Given the description of an element on the screen output the (x, y) to click on. 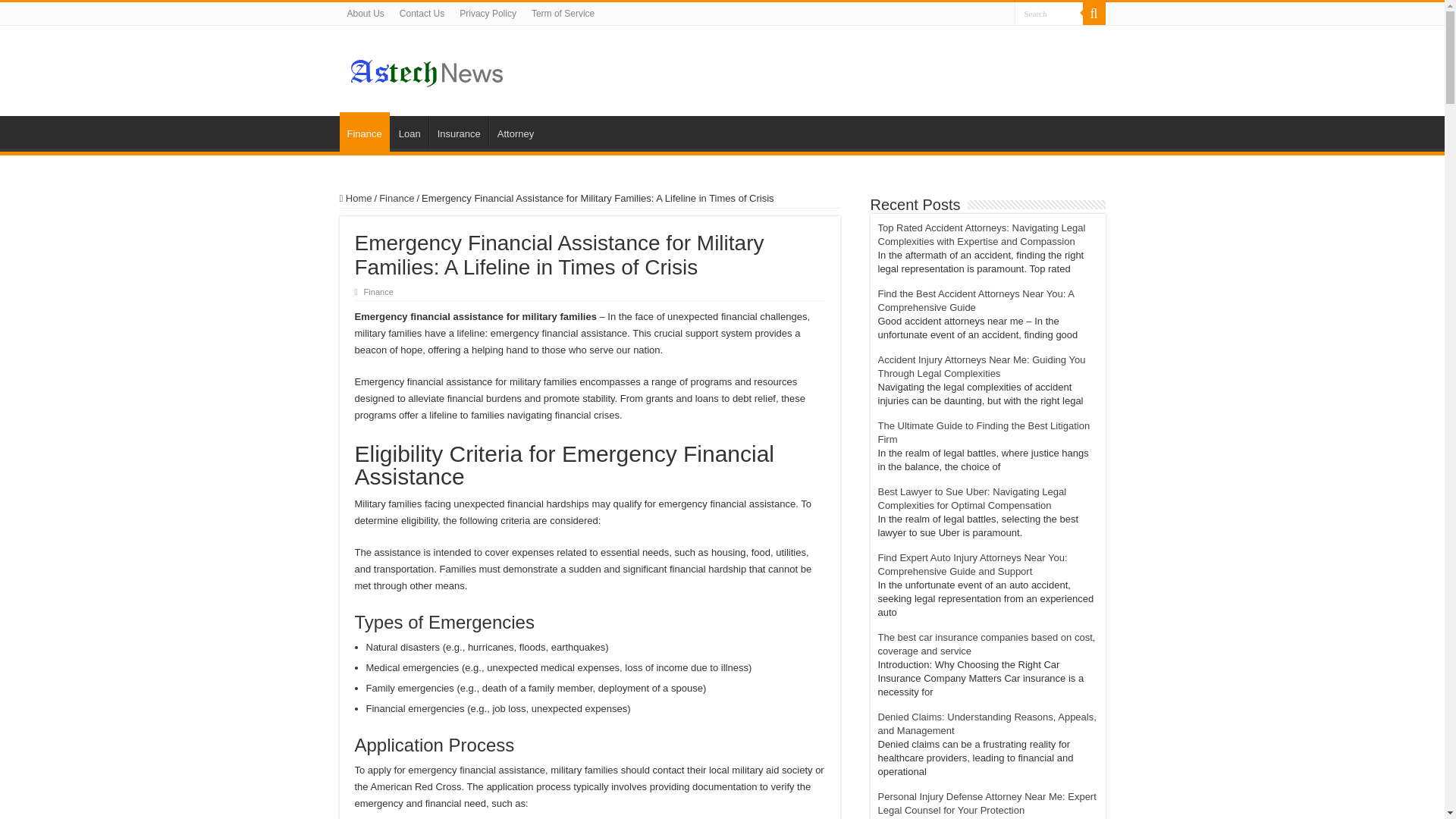
Contact Us (421, 13)
Search (1094, 13)
Finance (378, 291)
Loan (409, 132)
About Us (365, 13)
Privacy Policy (487, 13)
Search (1048, 13)
Search (1048, 13)
Finance (395, 197)
Search (1048, 13)
Attorney (515, 132)
Finance (364, 131)
Insurance (458, 132)
Term of Service (563, 13)
Home (355, 197)
